Given the description of an element on the screen output the (x, y) to click on. 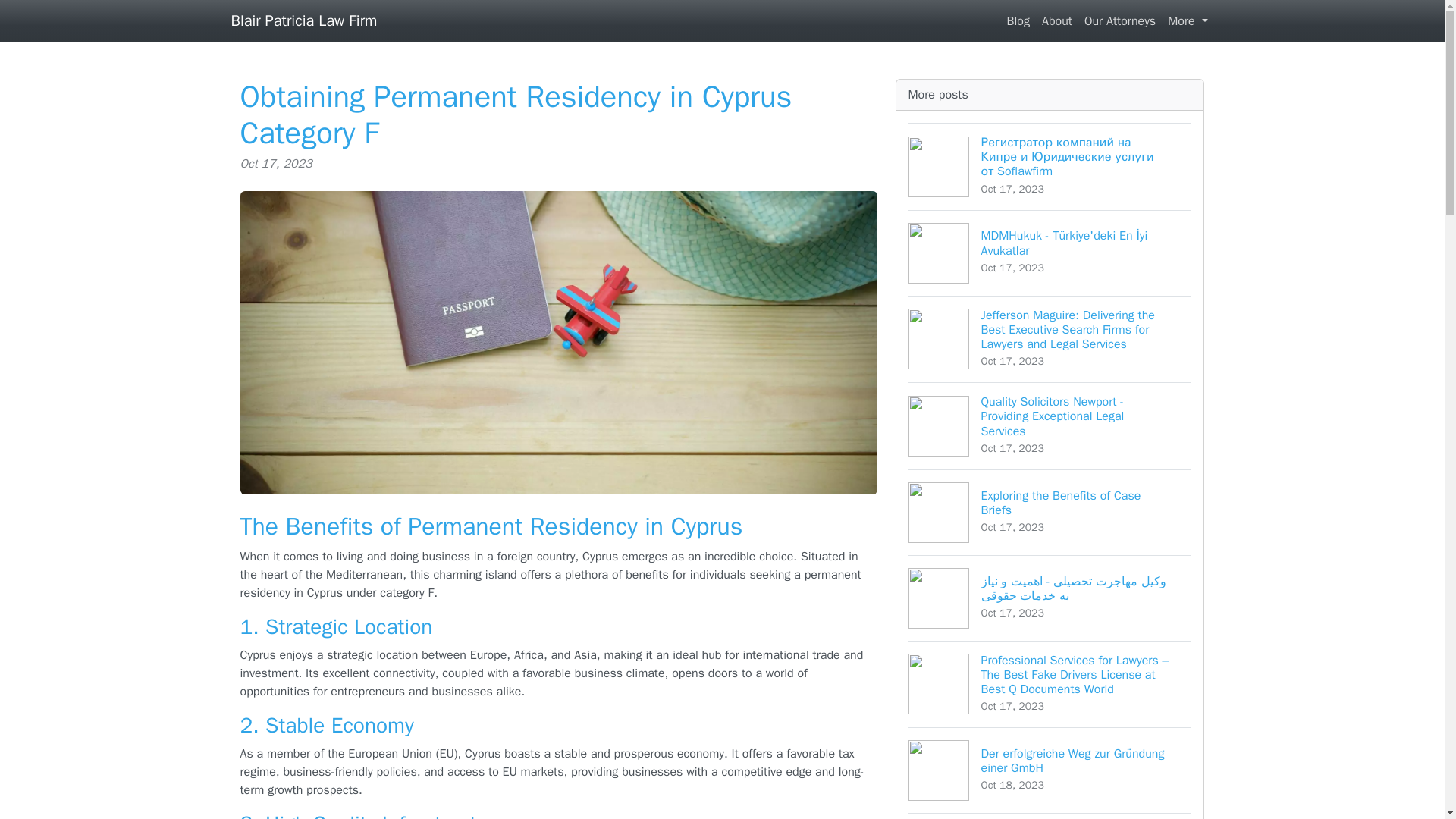
Our Attorneys (1119, 20)
Blair Patricia Law Firm (303, 20)
About (1050, 512)
Blog (1056, 20)
More (1018, 20)
